Given the description of an element on the screen output the (x, y) to click on. 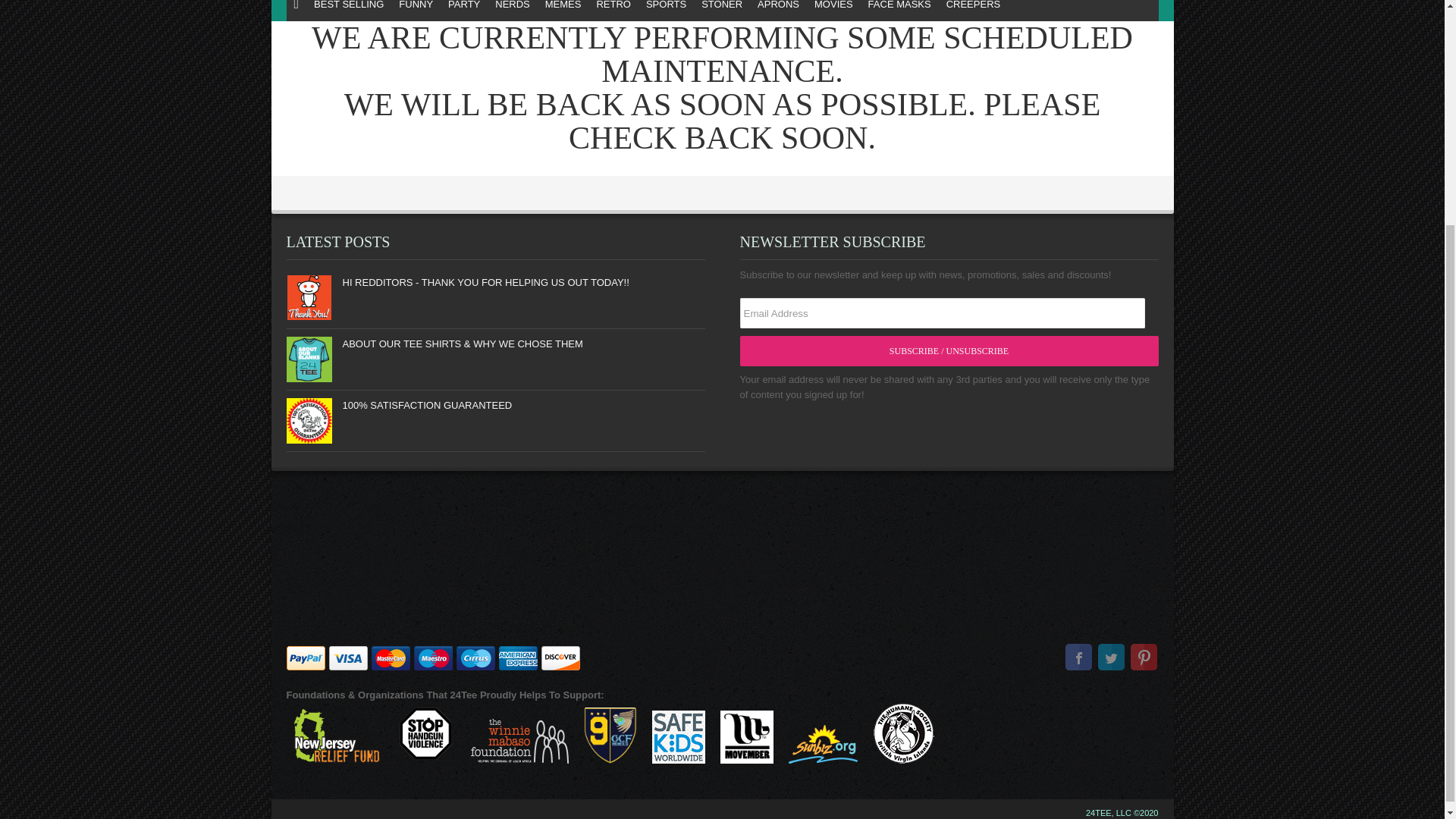
facebook (1078, 658)
BEST SELLING (348, 10)
RETRO (613, 10)
Hi Redditors - Thank You For Helping Us Out Today!! (308, 298)
FUNNY (416, 10)
PARTY (464, 10)
NERDS (512, 10)
Pinterest (1142, 658)
Twitter (1110, 658)
MEMES (563, 10)
Email Address (941, 313)
